Given the description of an element on the screen output the (x, y) to click on. 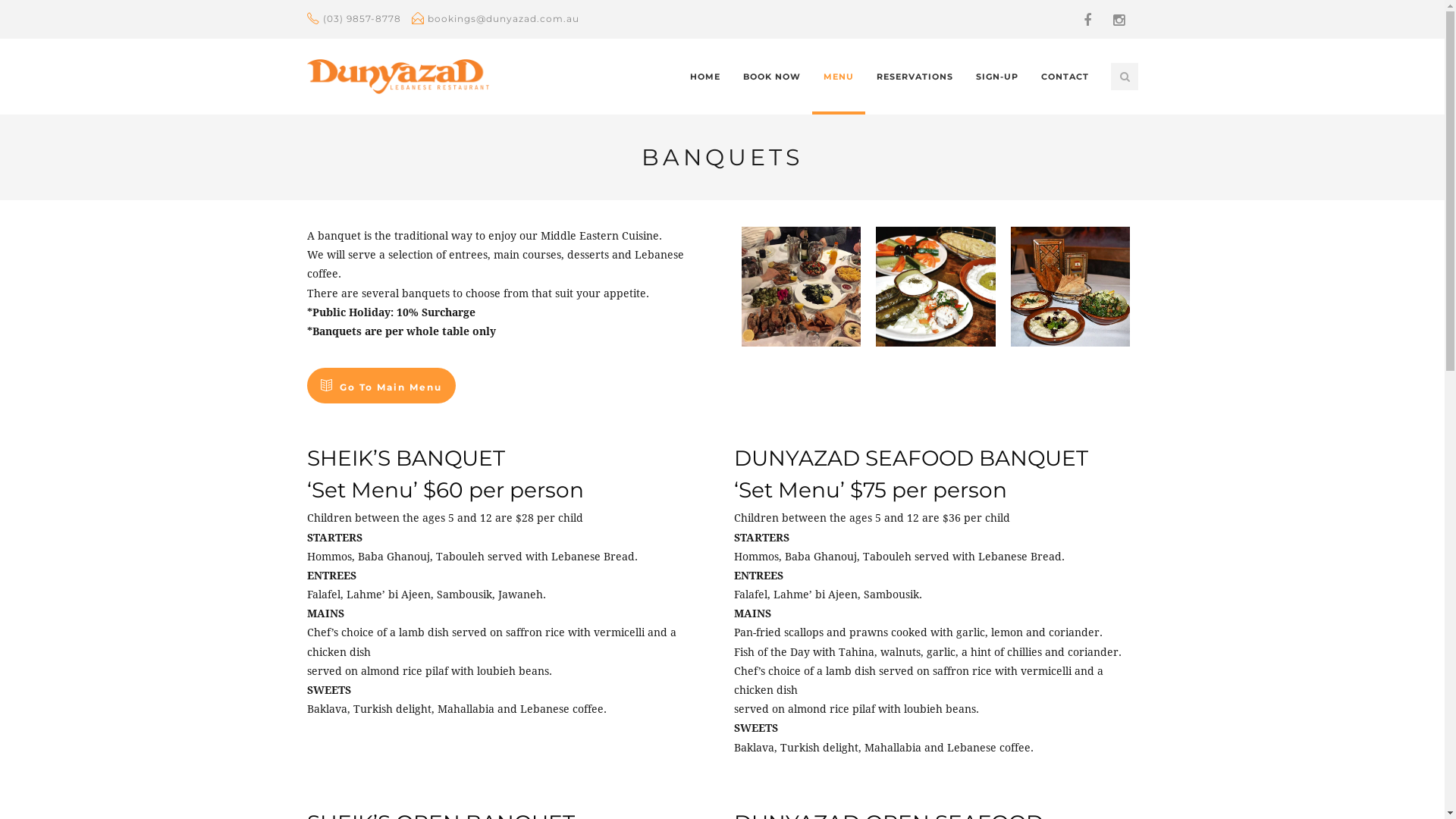
CONTACT Element type: text (1064, 76)
RESERVATIONS Element type: text (913, 76)
BOOK NOW Element type: text (771, 76)
SIGN-UP Element type: text (996, 76)
HOME Element type: text (704, 76)
Go To Main Menu Element type: text (380, 385)
MENU Element type: text (837, 76)
